Given the description of an element on the screen output the (x, y) to click on. 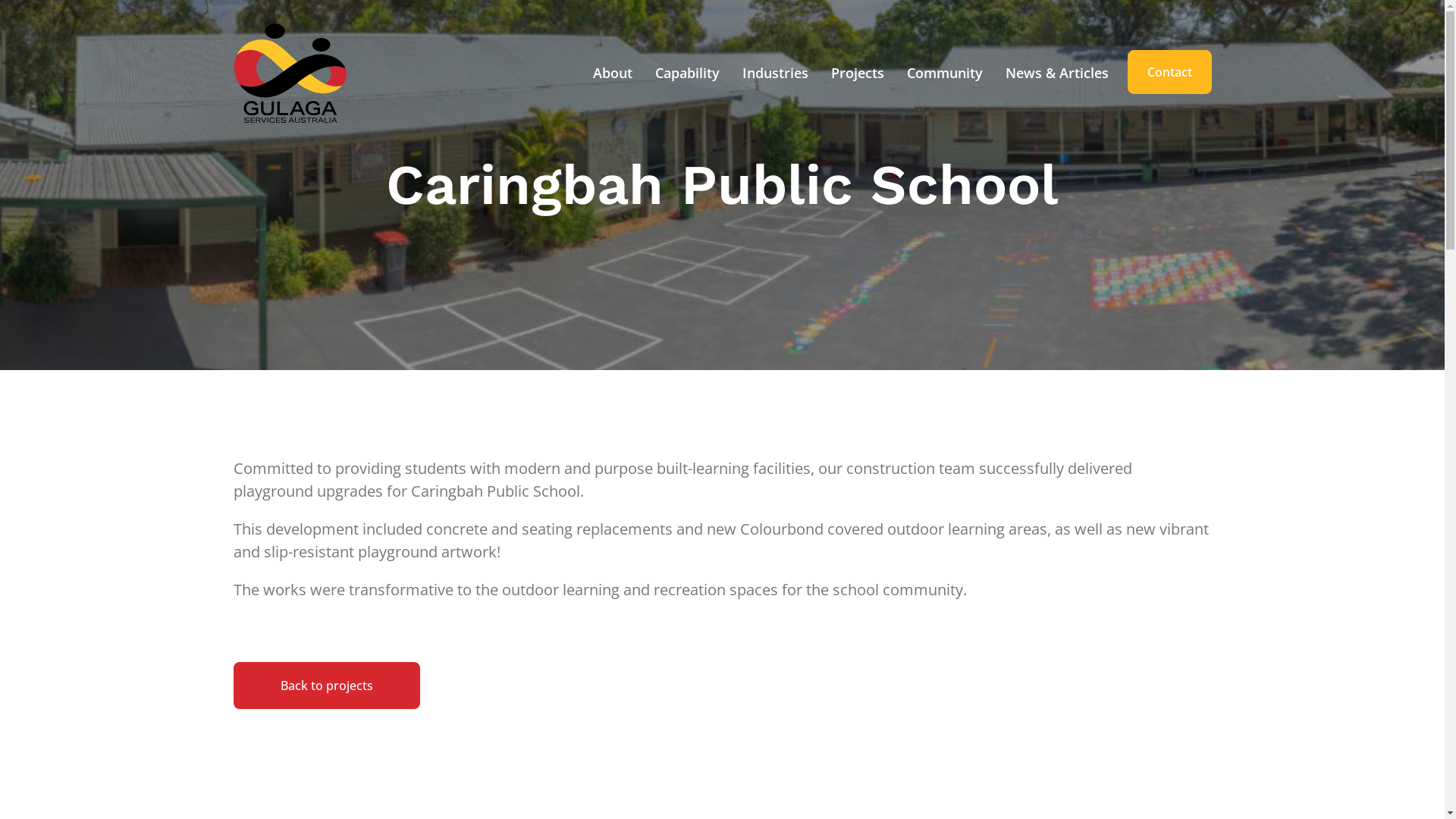
About Element type: text (611, 72)
News & Articles Element type: text (1056, 72)
Back to projects Element type: text (326, 685)
Contact Element type: text (1168, 72)
Industries Element type: text (775, 72)
Capability Element type: text (686, 72)
Community Element type: text (943, 72)
Projects Element type: text (856, 72)
